Given the description of an element on the screen output the (x, y) to click on. 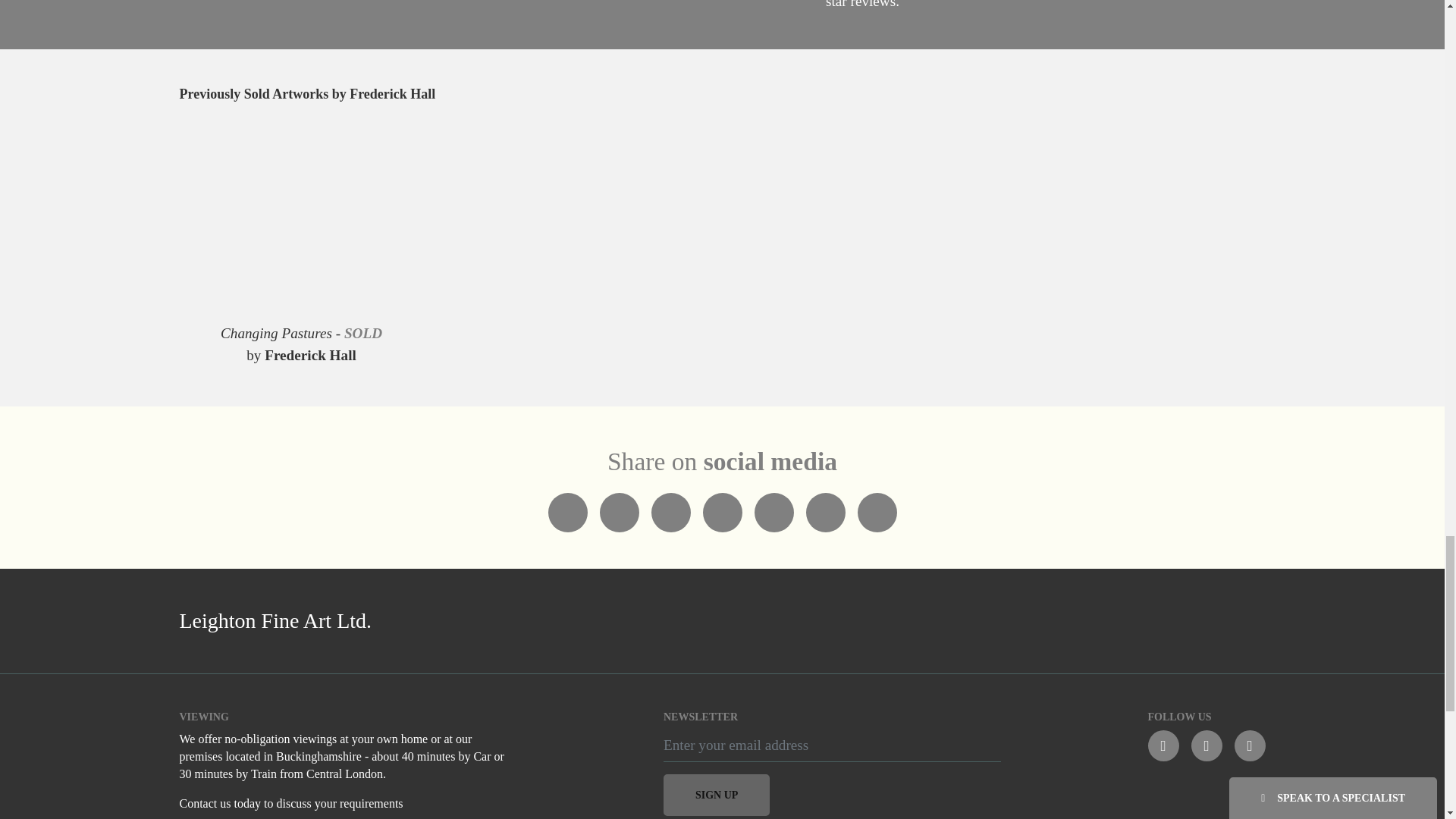
Leighton Fine Art Ltd. (441, 621)
